Given the description of an element on the screen output the (x, y) to click on. 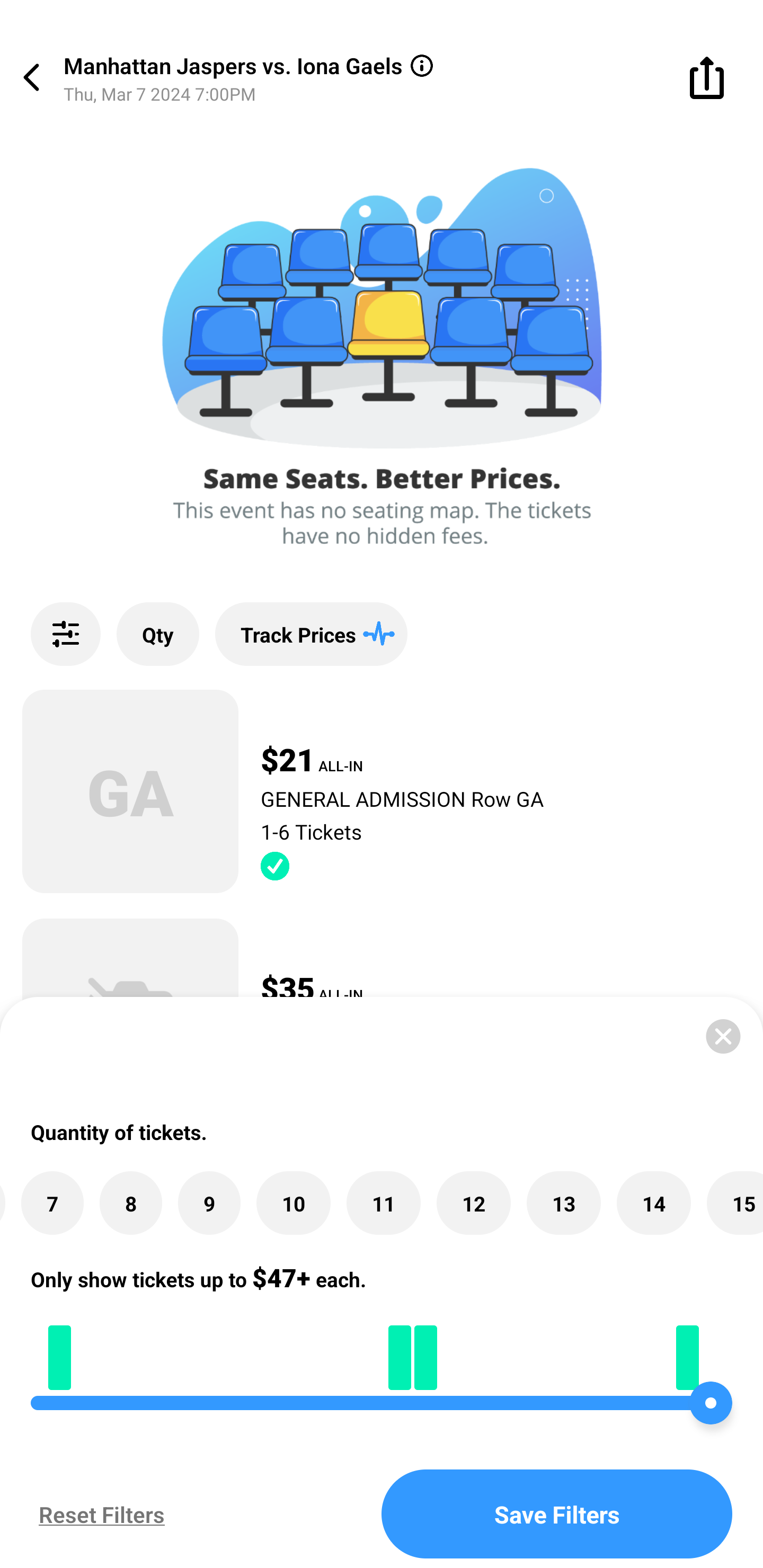
7 (52, 1203)
8 (130, 1203)
9 (208, 1203)
10 (293, 1203)
11 (383, 1203)
12 (473, 1203)
13 (563, 1203)
14 (653, 1203)
15 (734, 1203)
Save Filters (556, 1513)
Reset Filters (97, 1513)
